Given the description of an element on the screen output the (x, y) to click on. 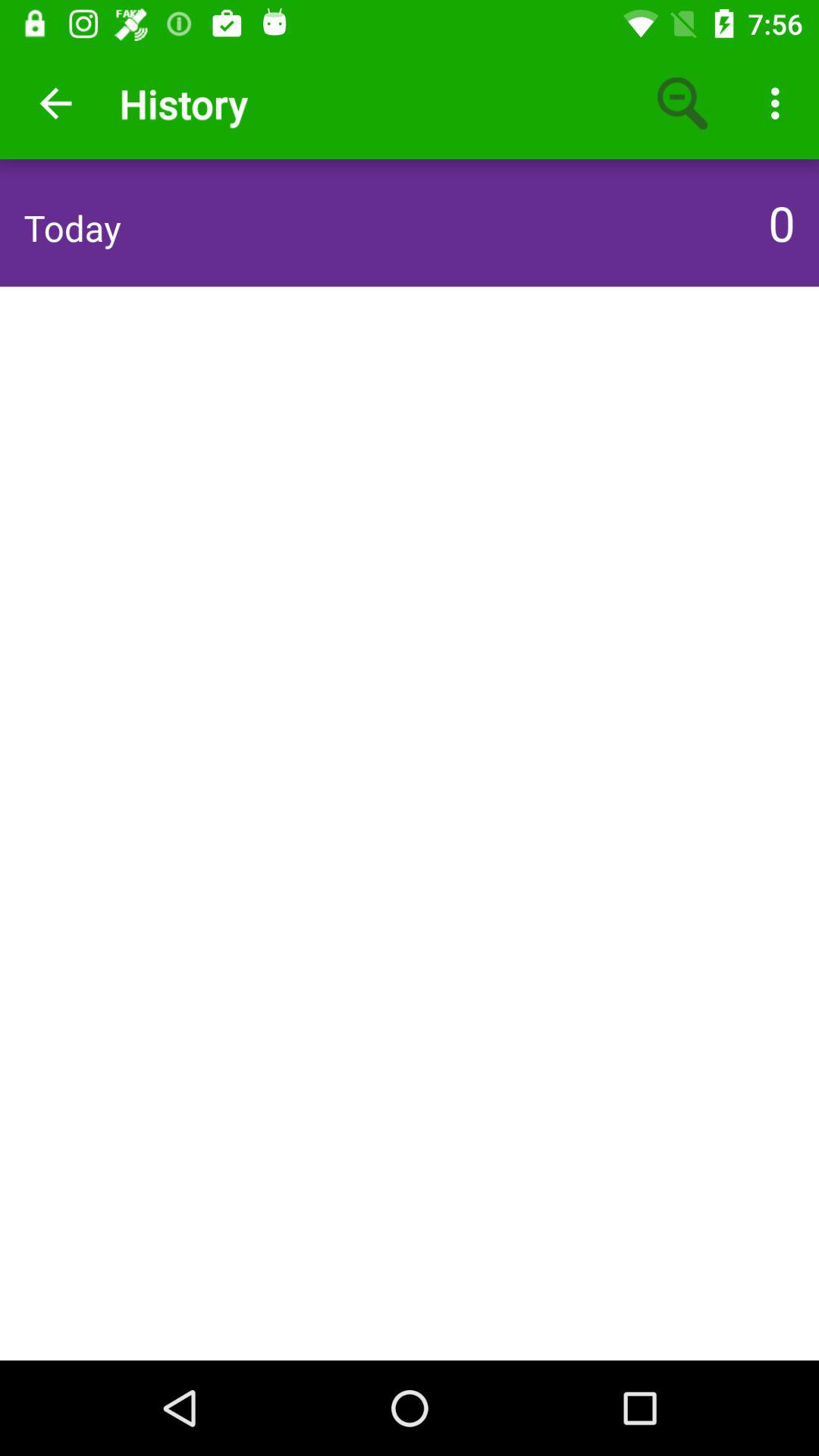
turn on icon next to 0 (72, 227)
